Given the description of an element on the screen output the (x, y) to click on. 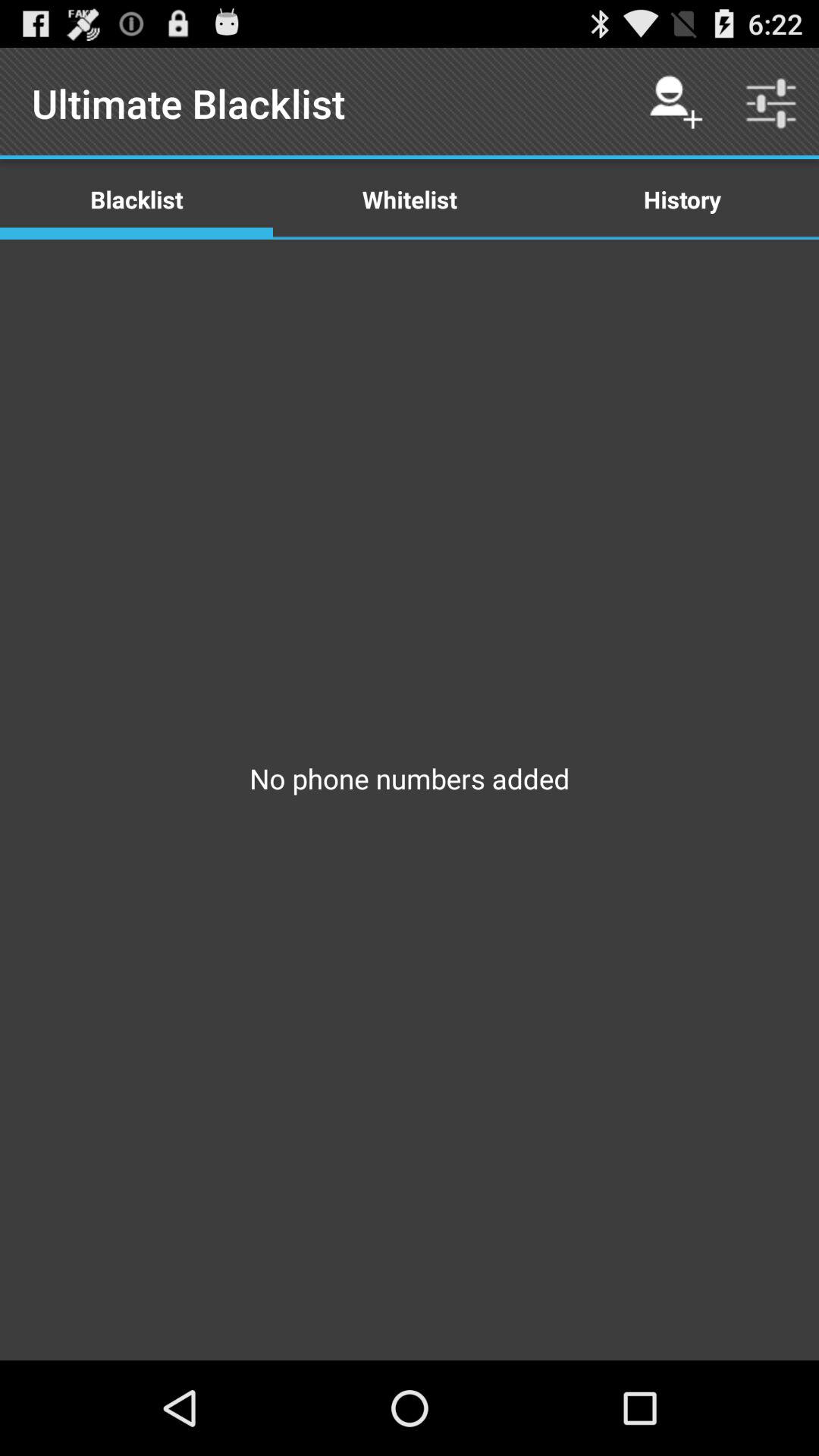
open the item next to history (409, 199)
